Given the description of an element on the screen output the (x, y) to click on. 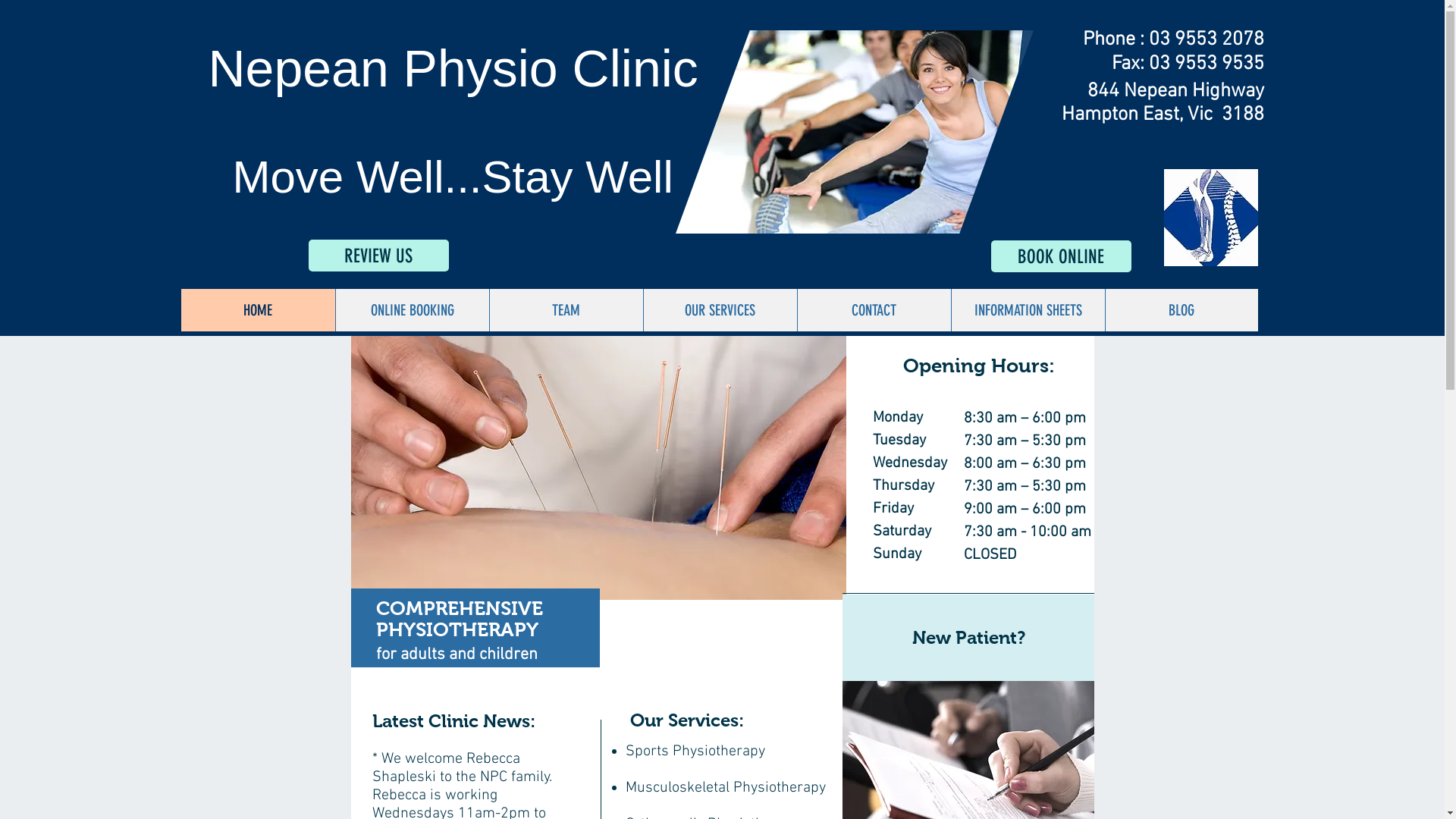
BOOK ONLINE Element type: text (1060, 256)
HOME Element type: text (257, 309)
BLOG Element type: text (1180, 309)
OUR SERVICES Element type: text (720, 309)
03 9553 2078 Element type: text (1205, 39)
Nepean Physio Clinic Element type: text (452, 68)
ONLINE BOOKING Element type: text (412, 309)
INFORMATION SHEETS Element type: text (1027, 309)
TEAM Element type: text (565, 309)
REVIEW US Element type: text (377, 255)
Move Well...Stay Well Element type: text (452, 176)
CONTACT Element type: text (873, 309)
